Given the description of an element on the screen output the (x, y) to click on. 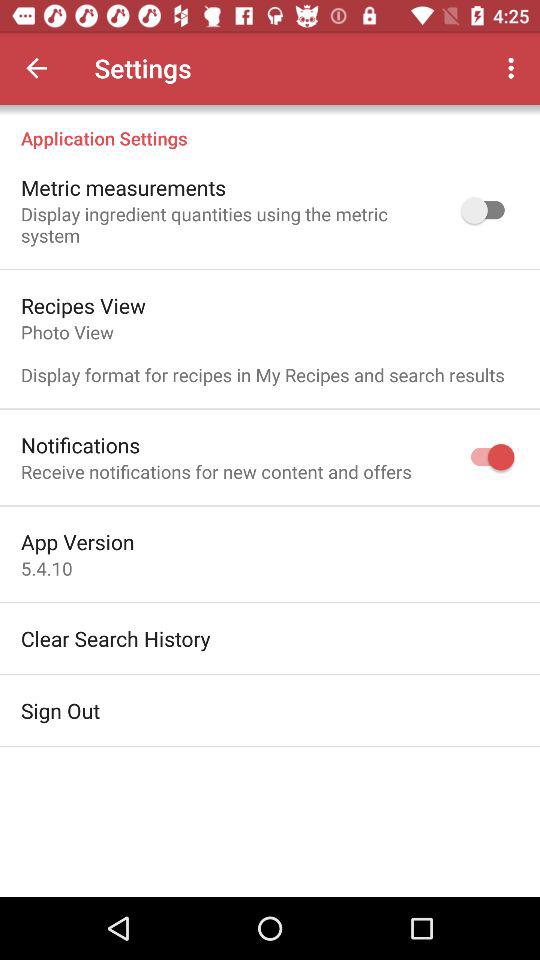
turn on the sign out (60, 710)
